Given the description of an element on the screen output the (x, y) to click on. 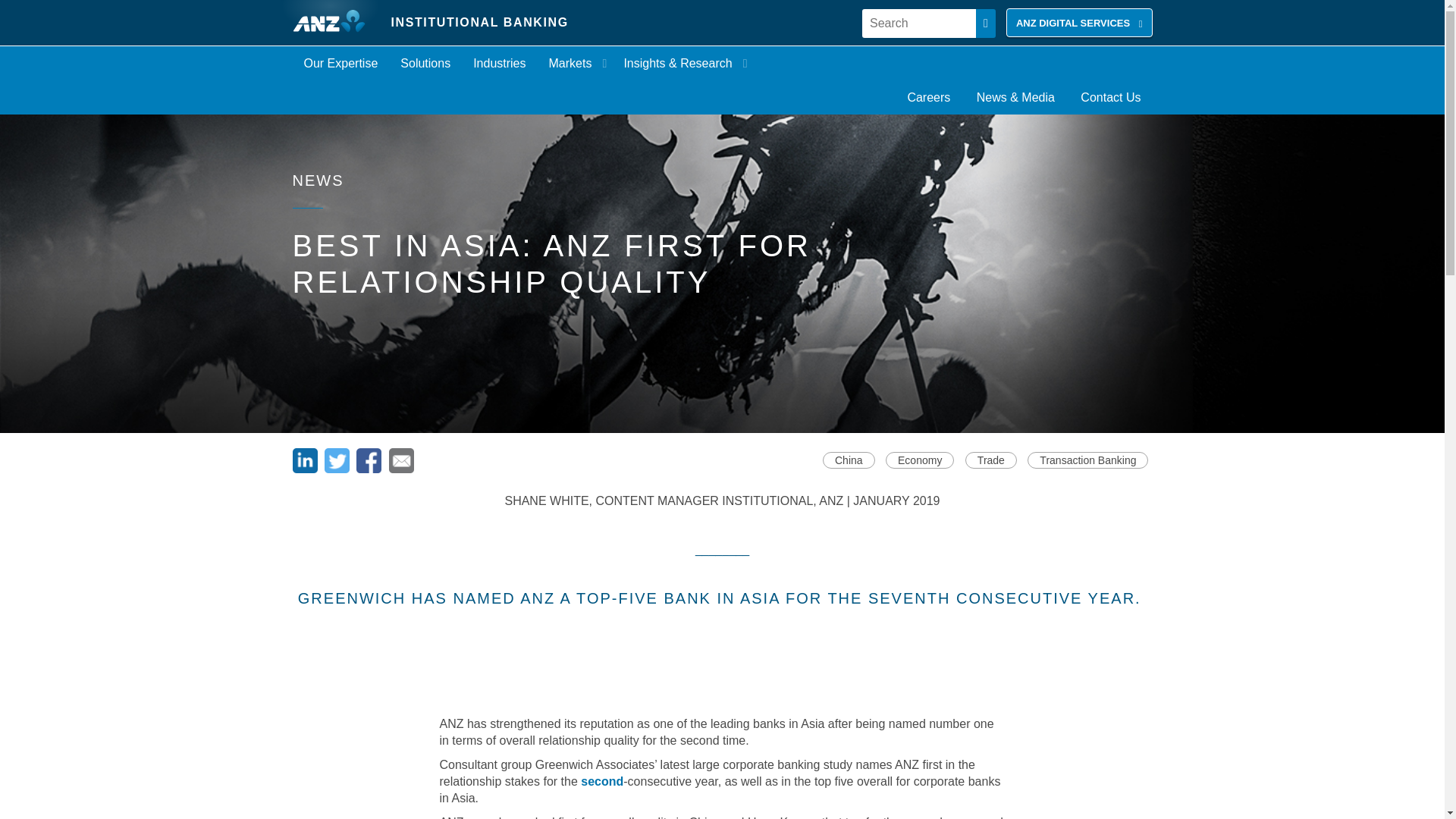
ANZ Logo (335, 22)
Industries (499, 63)
Solutions (424, 63)
Search (918, 23)
Share via twitter (336, 460)
Share via email (400, 468)
Share via facebook (368, 460)
Share via facebook (370, 468)
Markets (574, 63)
Our Expertise (341, 63)
Share via twitter (338, 468)
Share via linkedin (304, 460)
Institutional banking Homepage (335, 22)
ANZ DIGITAL SERVICES (1079, 22)
Share via linkedin (306, 468)
